Given the description of an element on the screen output the (x, y) to click on. 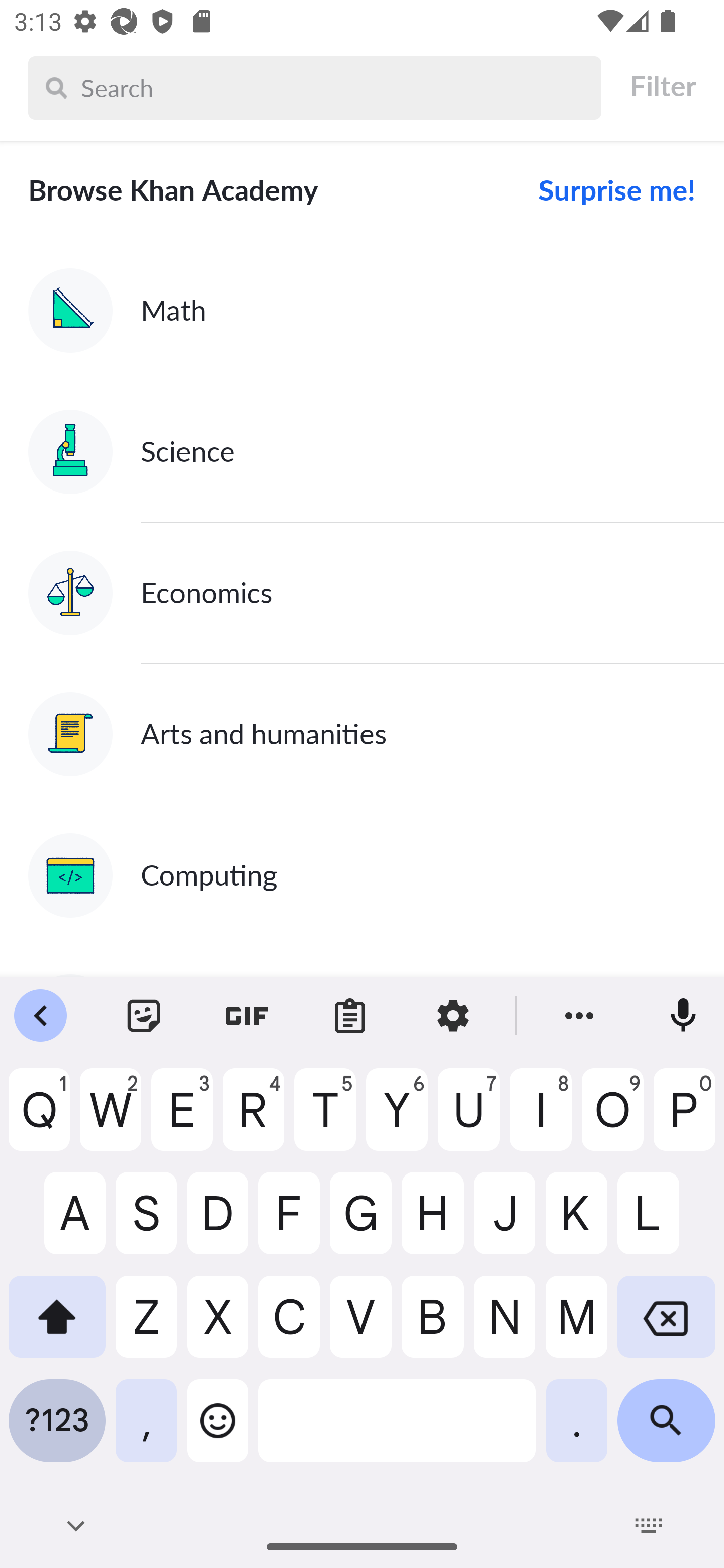
Search Search Search (314, 87)
Search (335, 87)
Filter (662, 85)
Surprise me! (609, 190)
Math (362, 310)
Science (362, 451)
Economics (362, 592)
Arts and humanities (362, 733)
Computing (362, 875)
